Given the description of an element on the screen output the (x, y) to click on. 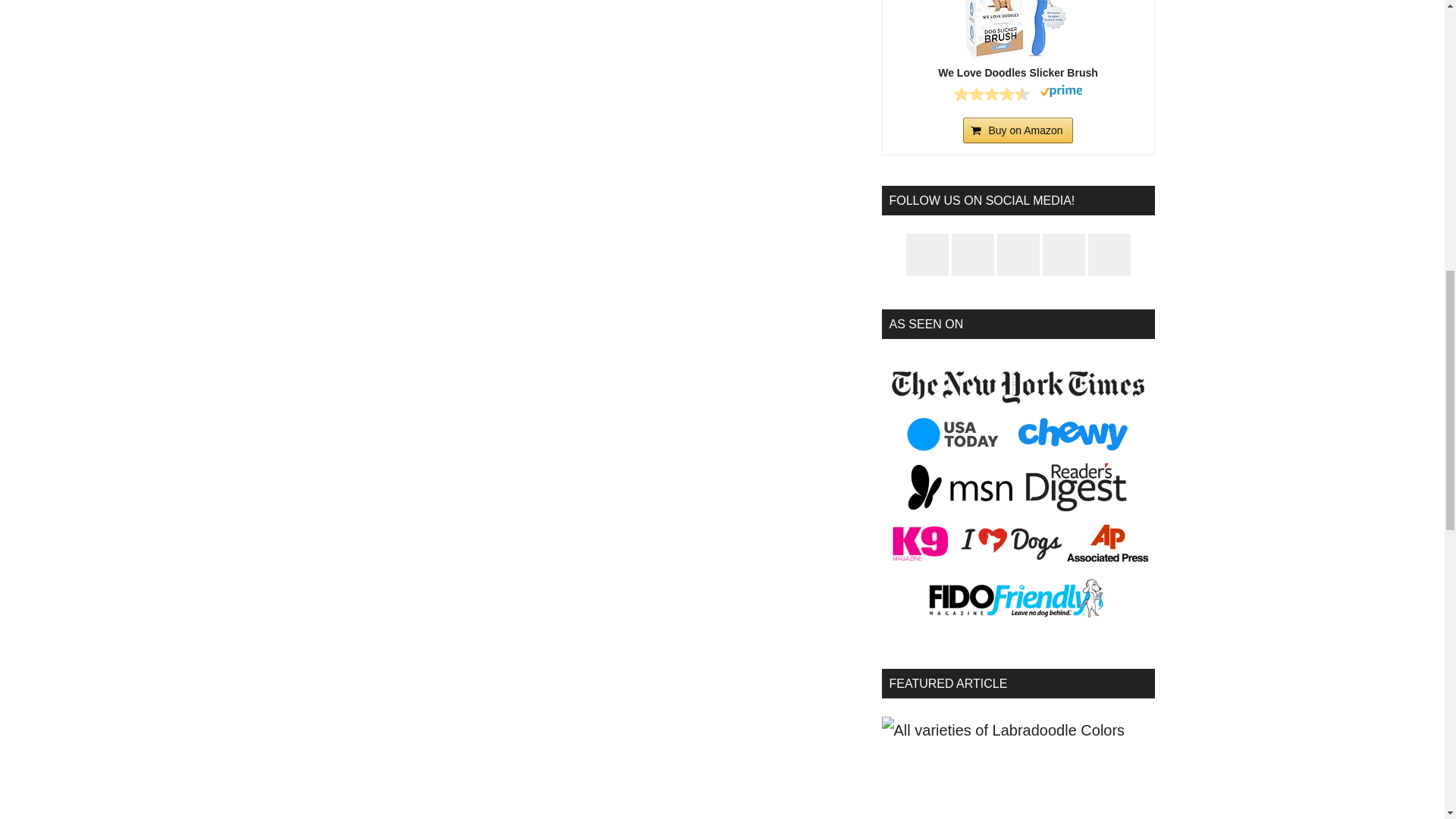
We Love Doodles Slicker Brush (1017, 72)
As Seen On (1017, 493)
We Love Doodles Slicker Brush (1017, 29)
We Love Doodles Slicker Brush (1017, 72)
Buy on Amazon (1016, 130)
Buy on Amazon (1016, 130)
Amazon Prime (1061, 92)
Reviews on Amazon (991, 93)
